Given the description of an element on the screen output the (x, y) to click on. 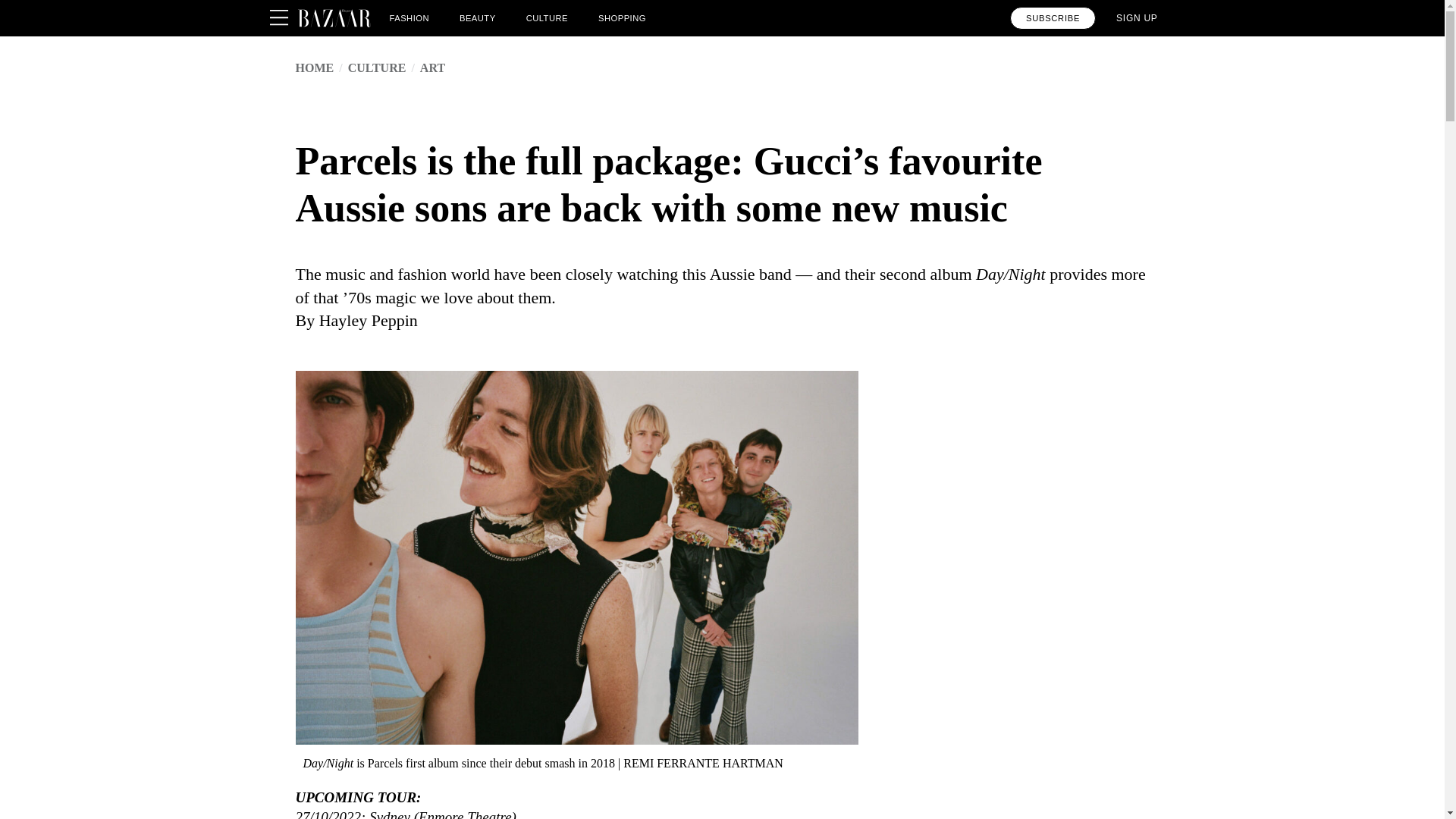
Go to Harper's Bazaar Australia. (314, 67)
ART (432, 67)
SHOPPING (622, 17)
CULTURE (546, 17)
CULTURE (376, 67)
SIGN UP (1136, 17)
Go to the Art category archives. (432, 67)
SUBSCRIBE (1053, 17)
BEAUTY (478, 17)
HOME (314, 67)
FASHION (409, 17)
SUBSCRIBE (1053, 17)
Go to the Culture category archives. (376, 67)
